Given the description of an element on the screen output the (x, y) to click on. 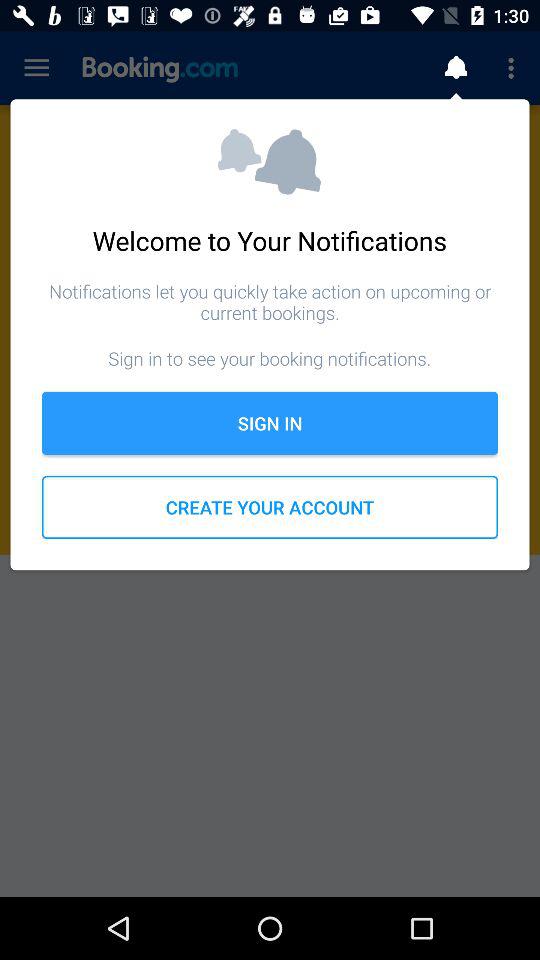
select the bell option (455, 67)
